Given the description of an element on the screen output the (x, y) to click on. 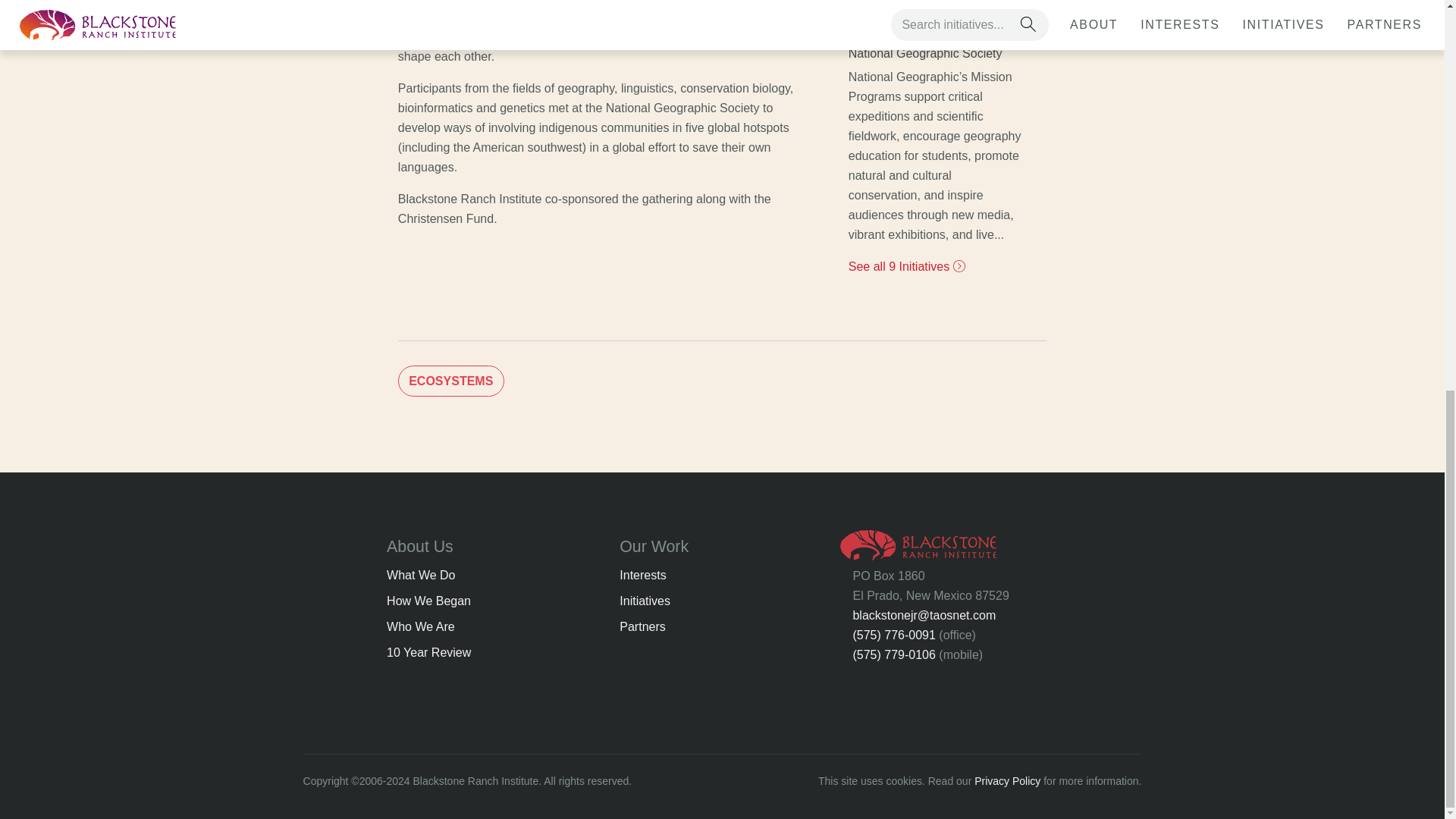
Privacy Policy (1007, 780)
See all 9 Initiatives (906, 266)
How We Began (428, 600)
ECOSYSTEMS (450, 381)
Who We Are (420, 626)
10 Year Review (428, 652)
Interests (642, 574)
What We Do (420, 574)
Partners (642, 626)
Initiatives (644, 600)
National Geographic Society (935, 53)
